Given the description of an element on the screen output the (x, y) to click on. 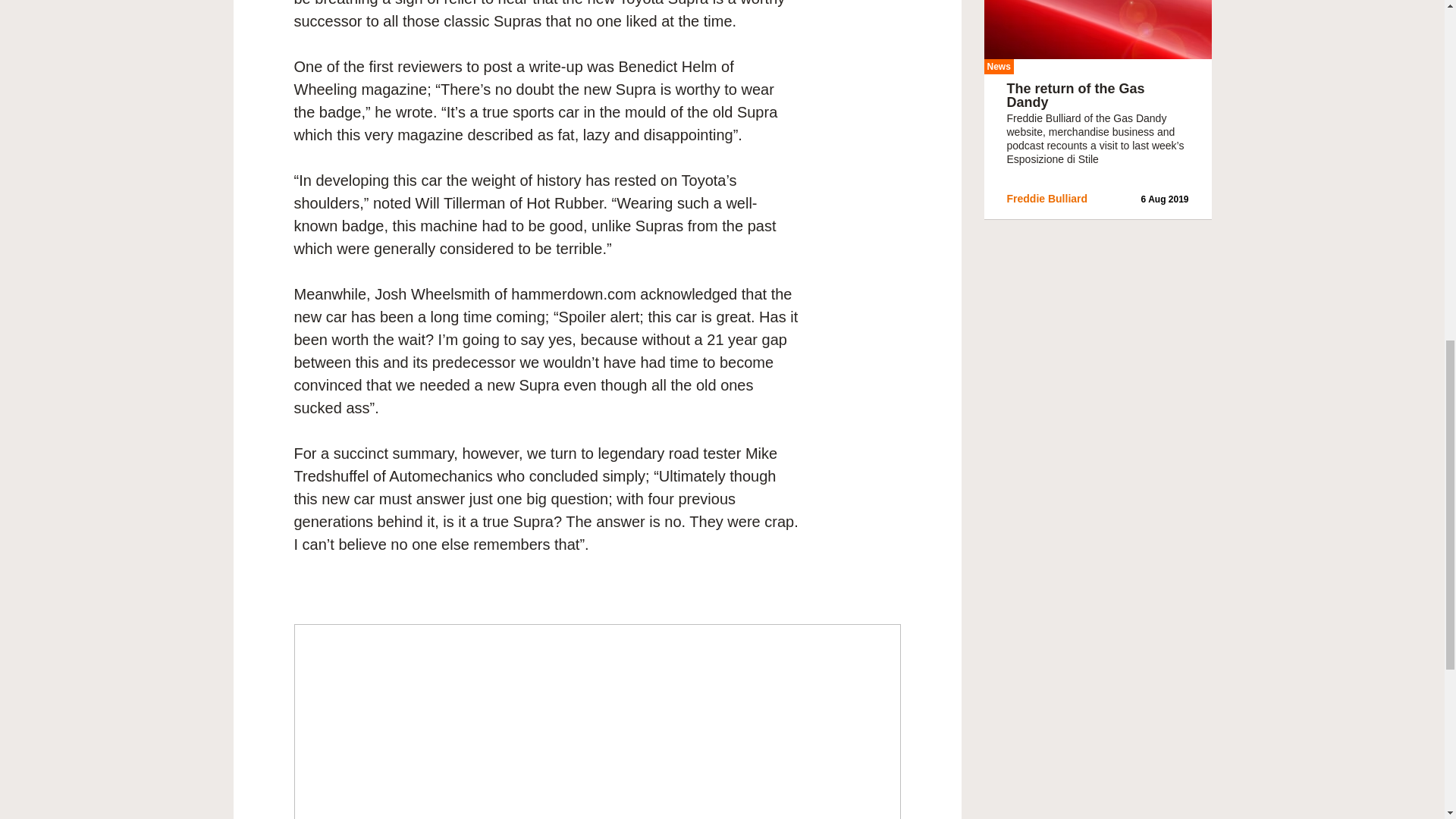
News (998, 66)
